Given the description of an element on the screen output the (x, y) to click on. 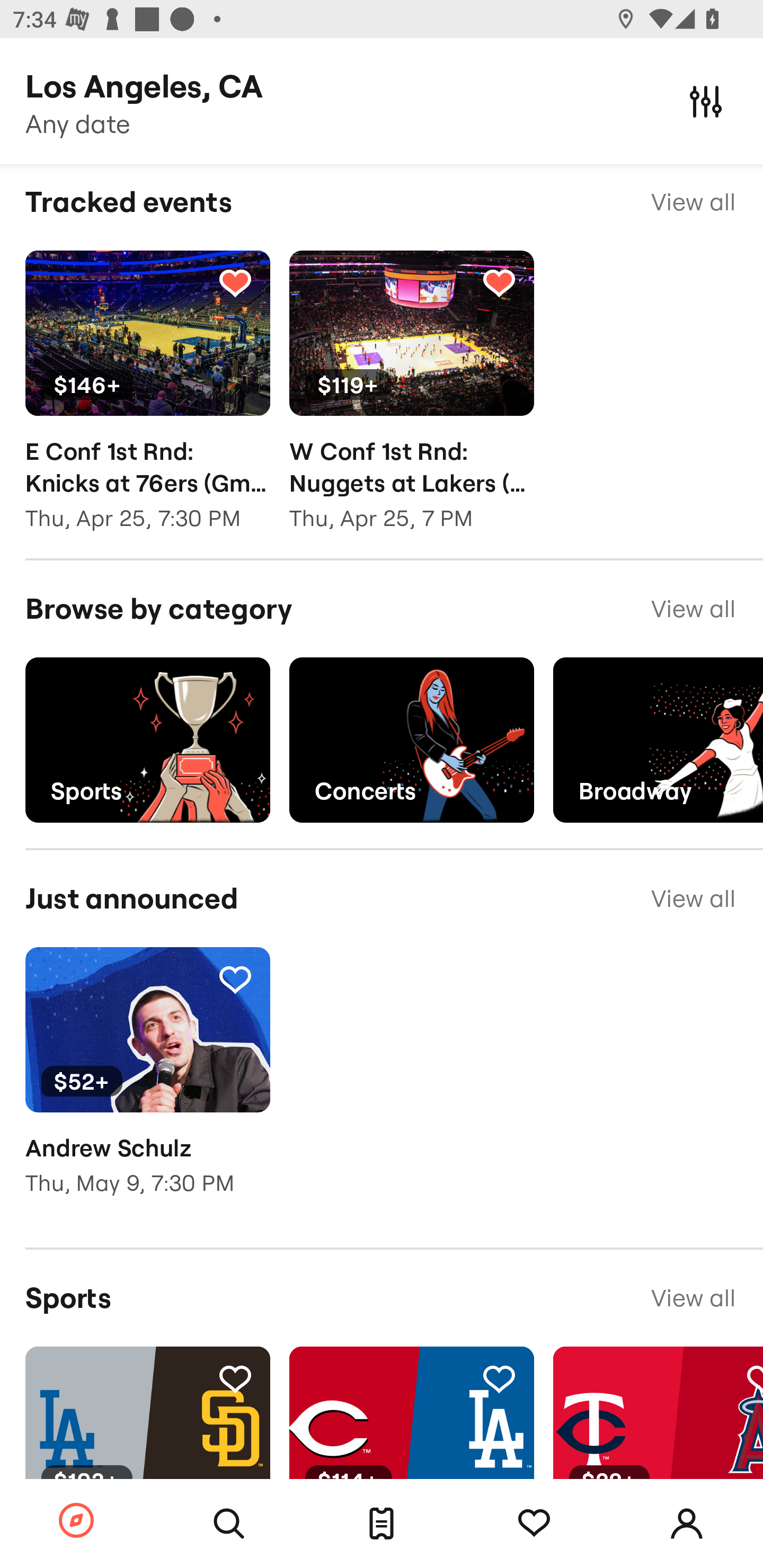
Filters (705, 100)
View all (693, 207)
Tracking (234, 282)
Tracking (498, 282)
View all (693, 607)
Sports (147, 739)
Concerts (411, 739)
Broadway (658, 739)
View all (693, 898)
Tracking $52+ Andrew Schulz Thu, May 9, 7:30 PM (147, 1084)
Tracking (234, 978)
View all (693, 1297)
Tracking (234, 1378)
Tracking (498, 1378)
Browse (76, 1521)
Search (228, 1523)
Tickets (381, 1523)
Tracking (533, 1523)
Account (686, 1523)
